Given the description of an element on the screen output the (x, y) to click on. 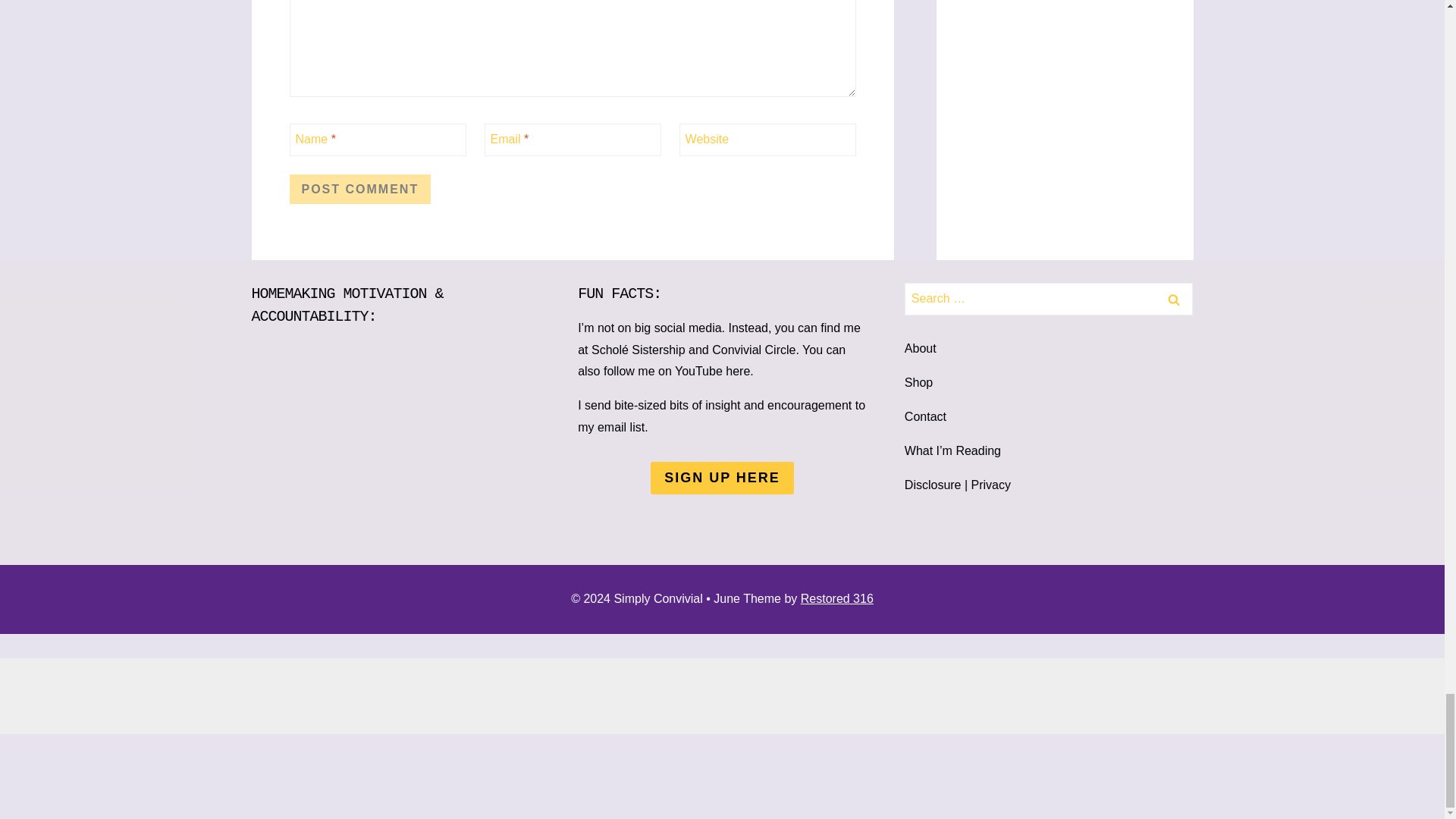
Post Comment (359, 188)
Search (1173, 299)
Search (1173, 299)
